Given the description of an element on the screen output the (x, y) to click on. 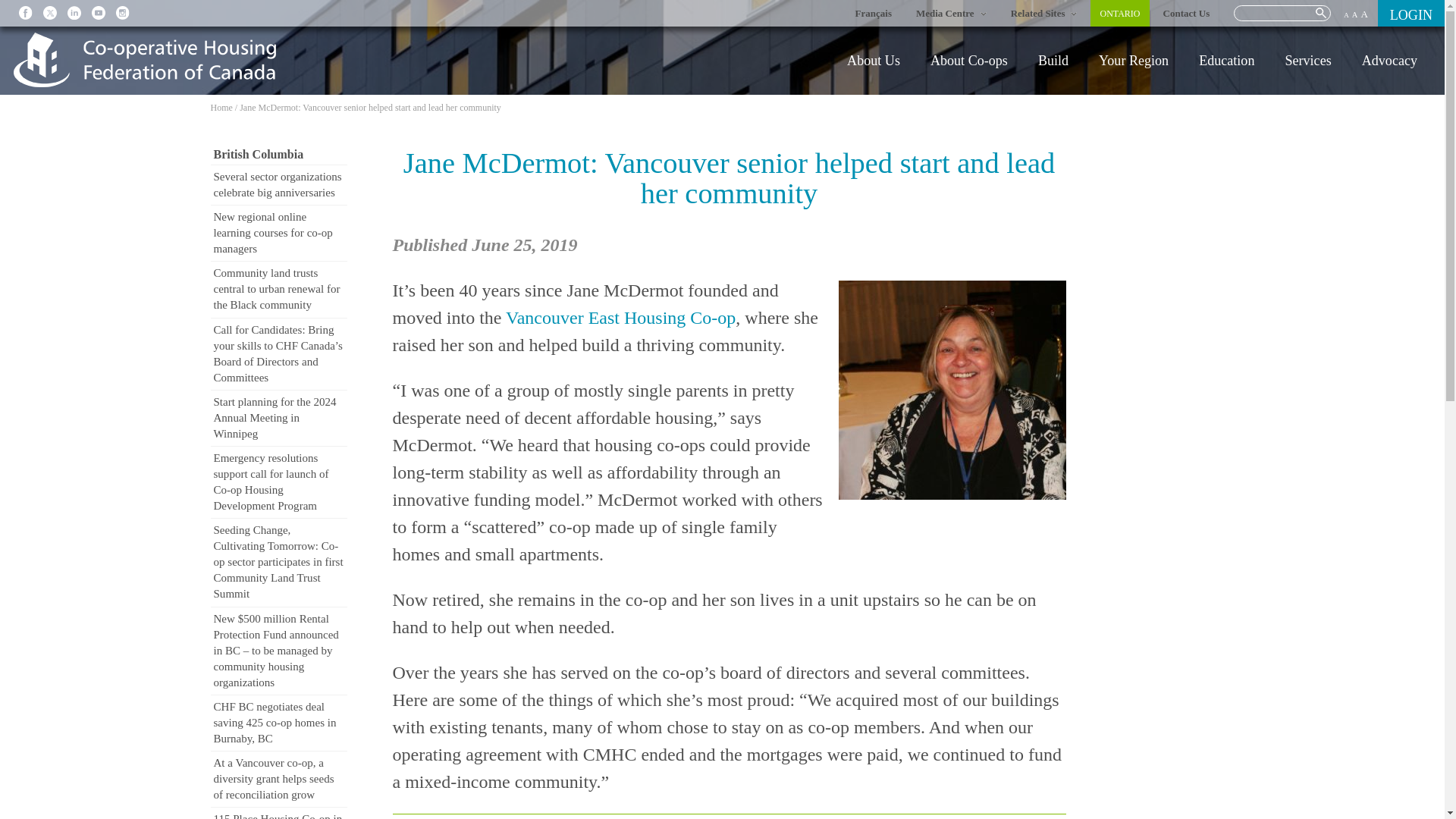
Several sector organizations celebrate big anniversaries (278, 184)
Start planning for the 2024 Annual Meeting in Winnipeg (278, 417)
Go to CHF Canada. (221, 107)
New regional online learning courses for co-op managers (278, 233)
CHF BC negotiates deal saving 425 co-op homes in Burnaby, BC (278, 722)
